Given the description of an element on the screen output the (x, y) to click on. 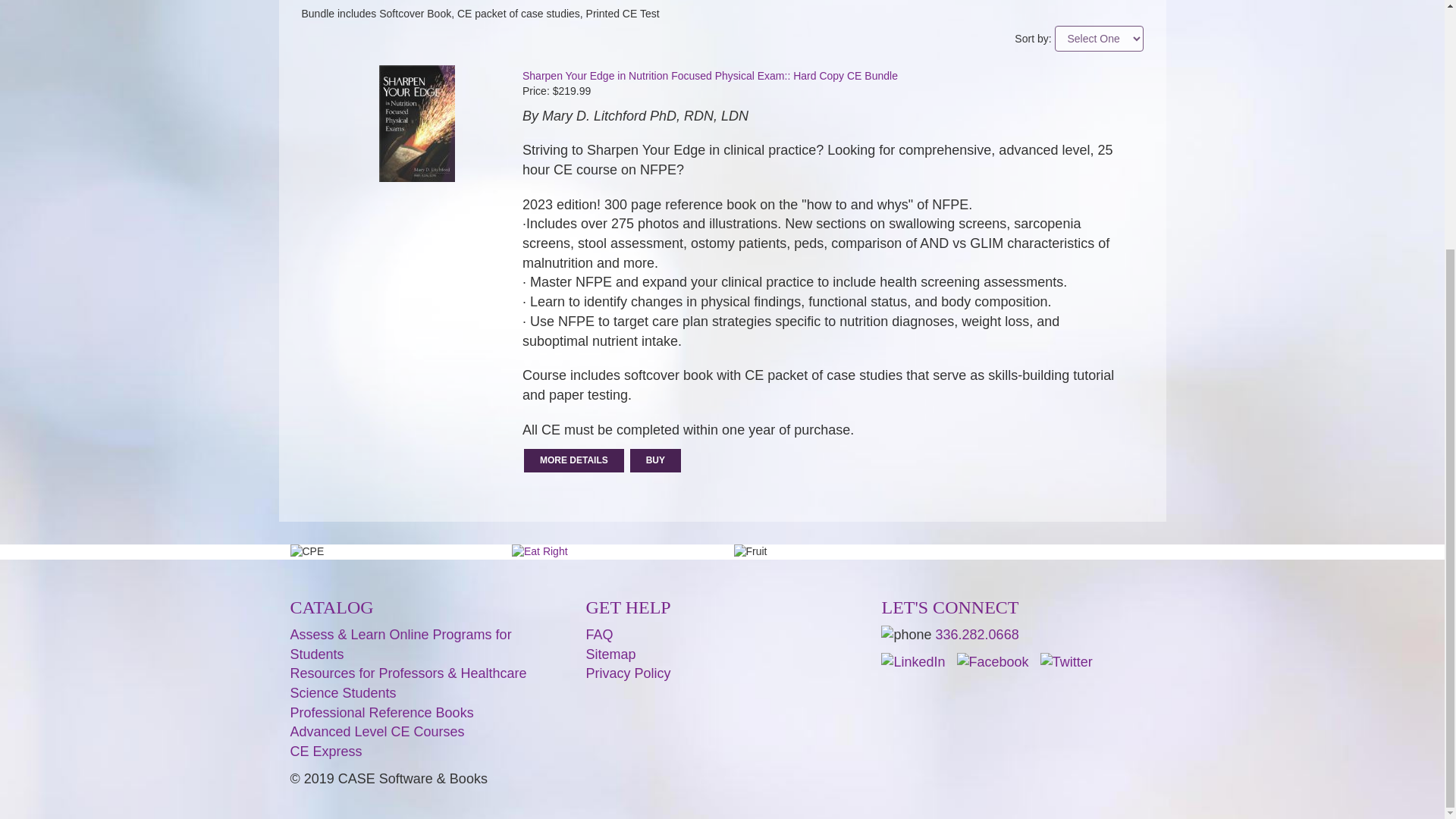
BUY (655, 460)
Professional Reference Books (381, 712)
MORE DETAILS (574, 460)
